Given the description of an element on the screen output the (x, y) to click on. 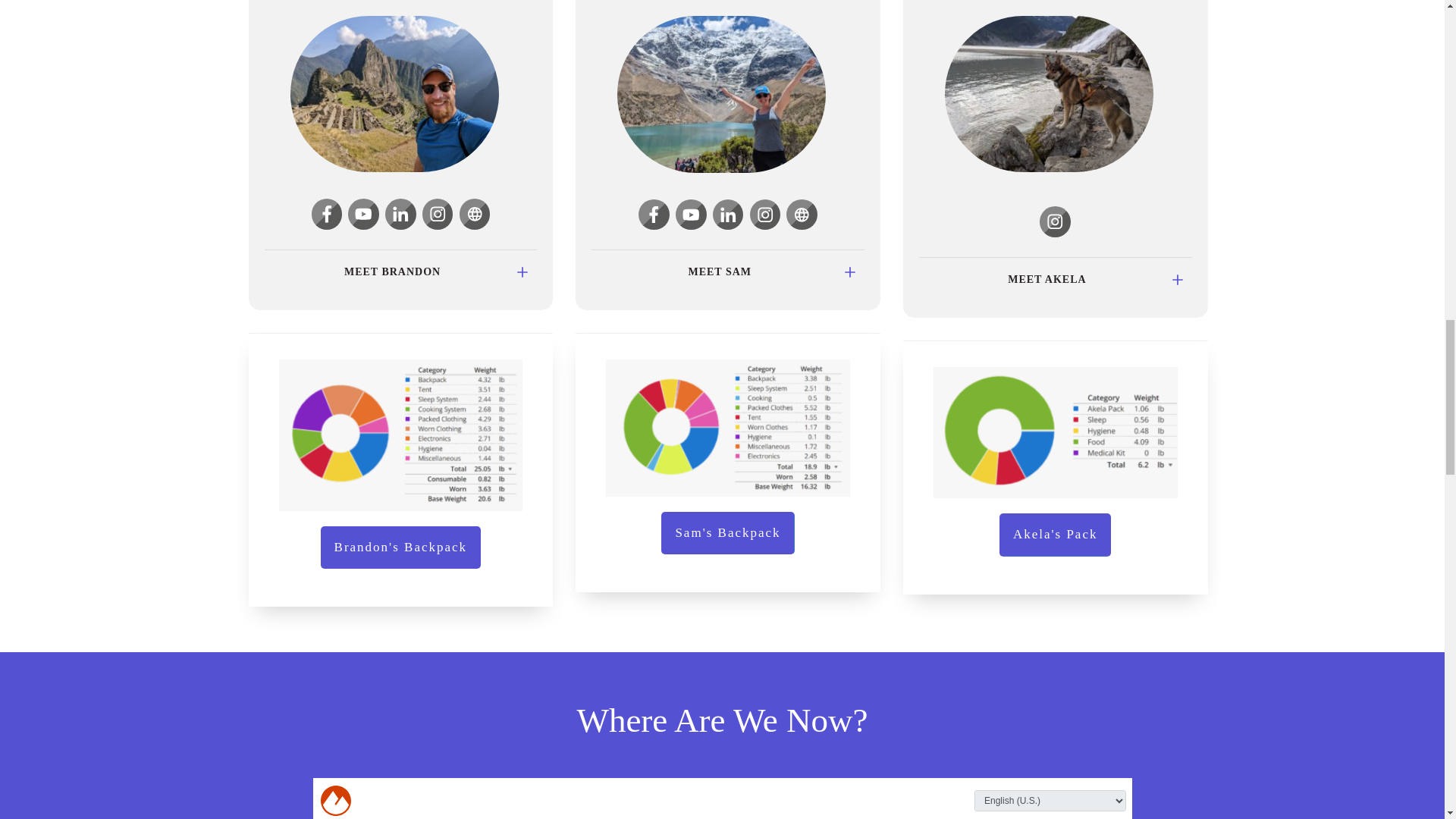
Akela's Pack (1055, 534)
brandon pack (400, 435)
sam pack (727, 427)
Brandon's Backpack (400, 547)
akela pack (1055, 432)
Sam's Backpack (727, 532)
